Given the description of an element on the screen output the (x, y) to click on. 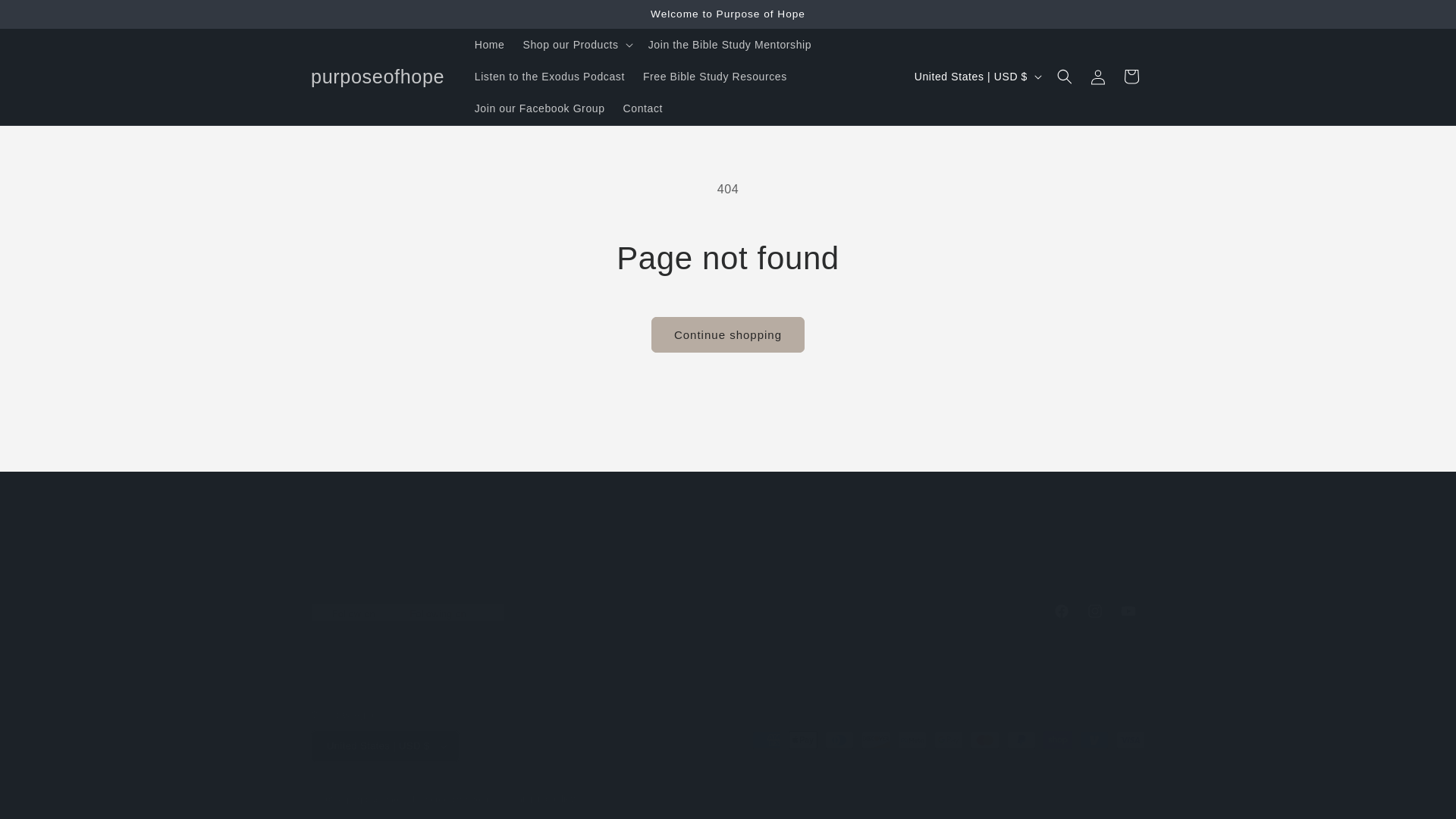
Skip to content (727, 558)
purposeofhope (727, 611)
Home (45, 17)
